Given the description of an element on the screen output the (x, y) to click on. 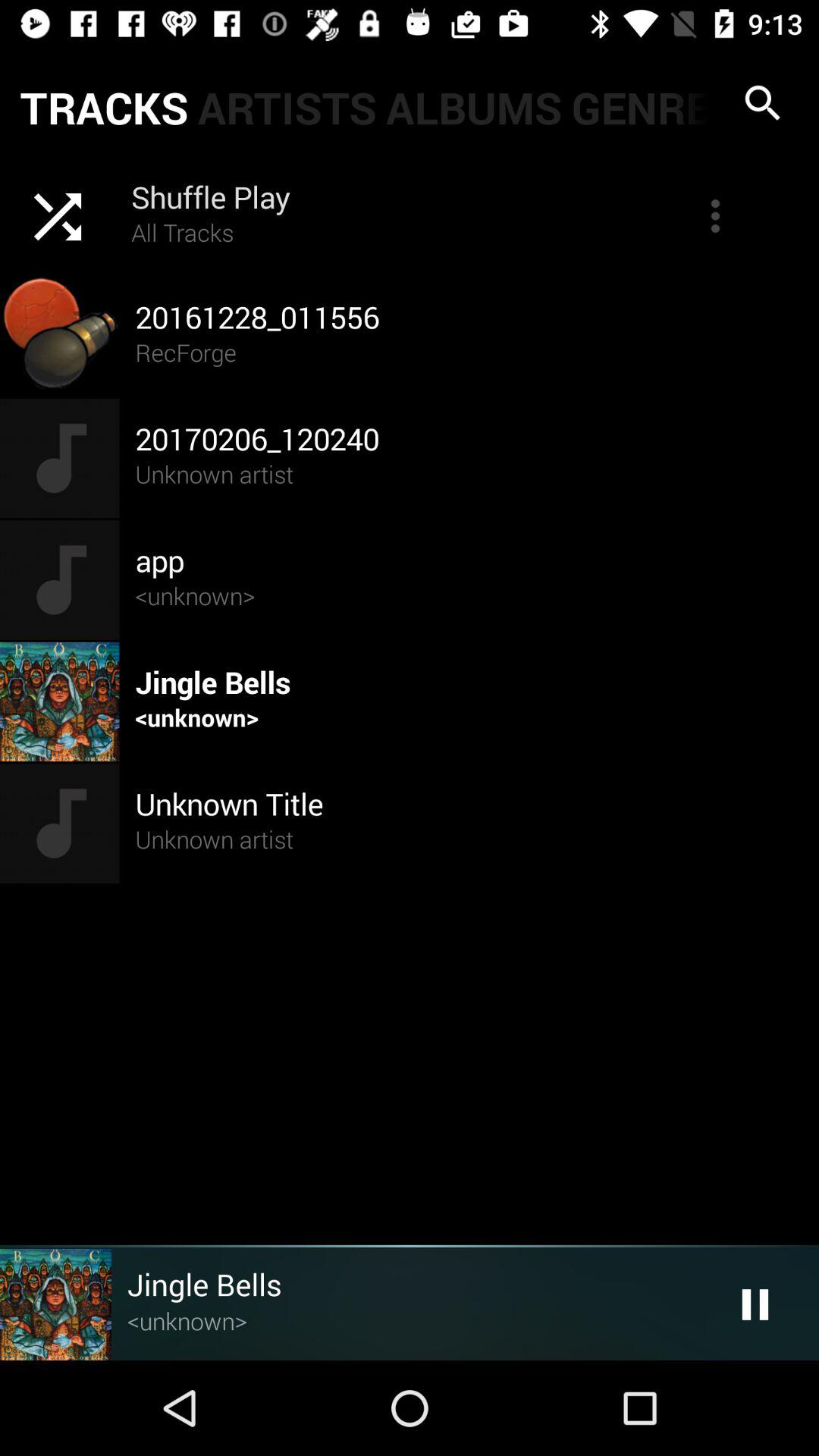
more (715, 216)
